Given the description of an element on the screen output the (x, y) to click on. 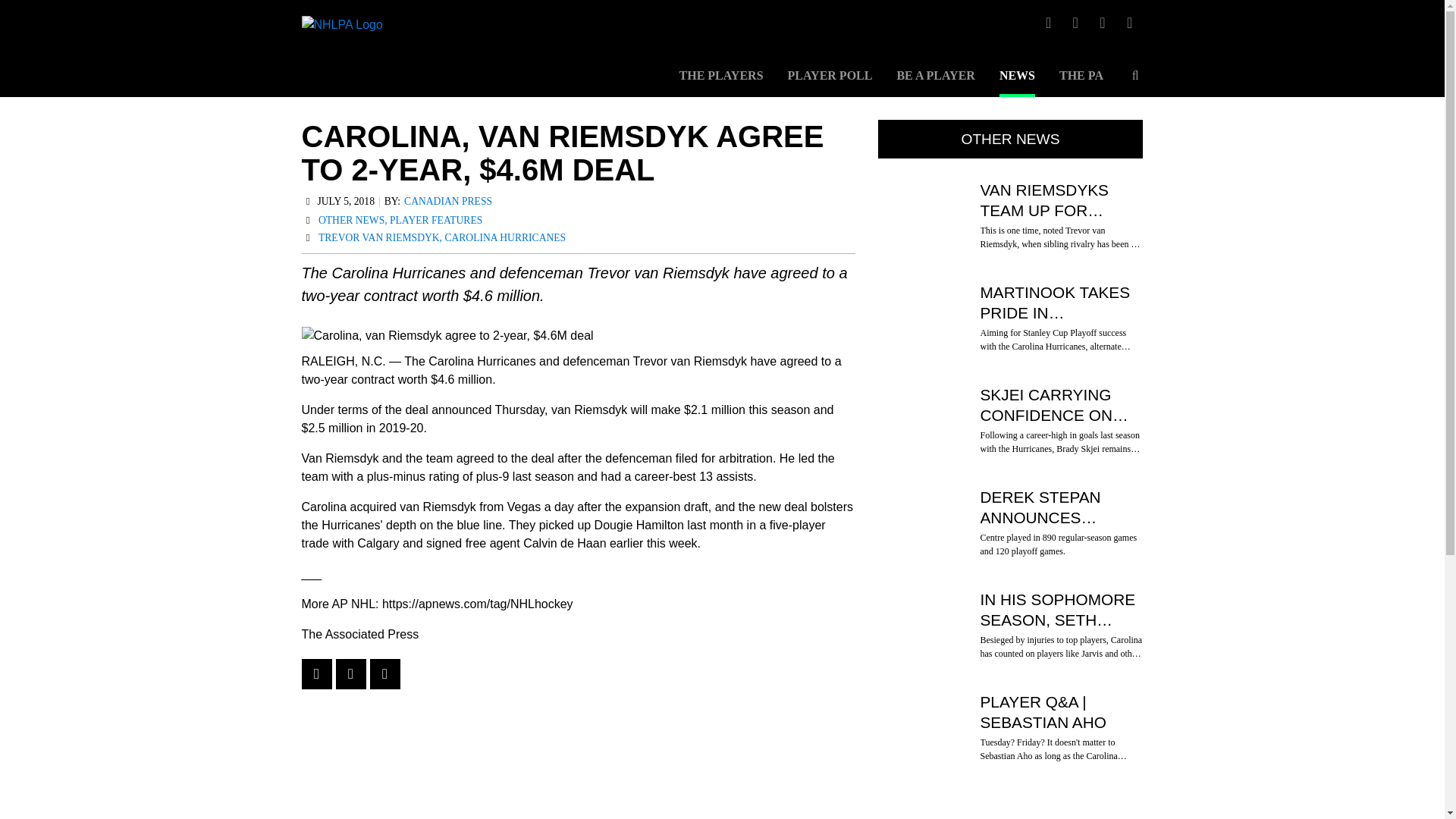
Share to LinkedIn (384, 674)
Share to Twitter (349, 674)
PLAYER POLL (829, 83)
THE PLAYERS (720, 83)
Instagram (1074, 22)
CAROLINA HURRICANES (505, 237)
CANADIAN PRESS (448, 201)
BE A PLAYER (935, 83)
